Given the description of an element on the screen output the (x, y) to click on. 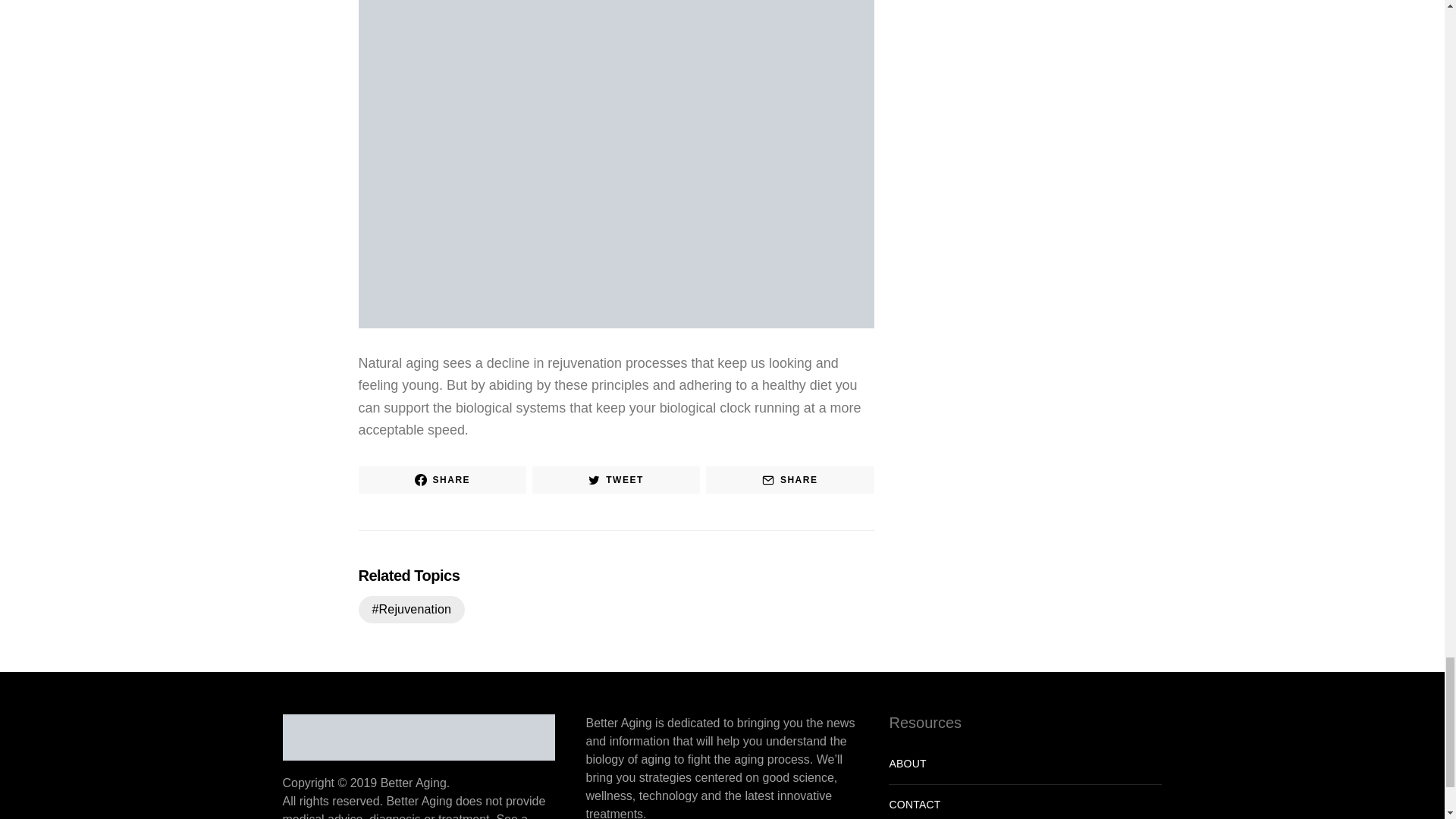
Rejuvenation (411, 609)
TWEET (616, 479)
SHARE (790, 479)
SHARE (441, 479)
